Given the description of an element on the screen output the (x, y) to click on. 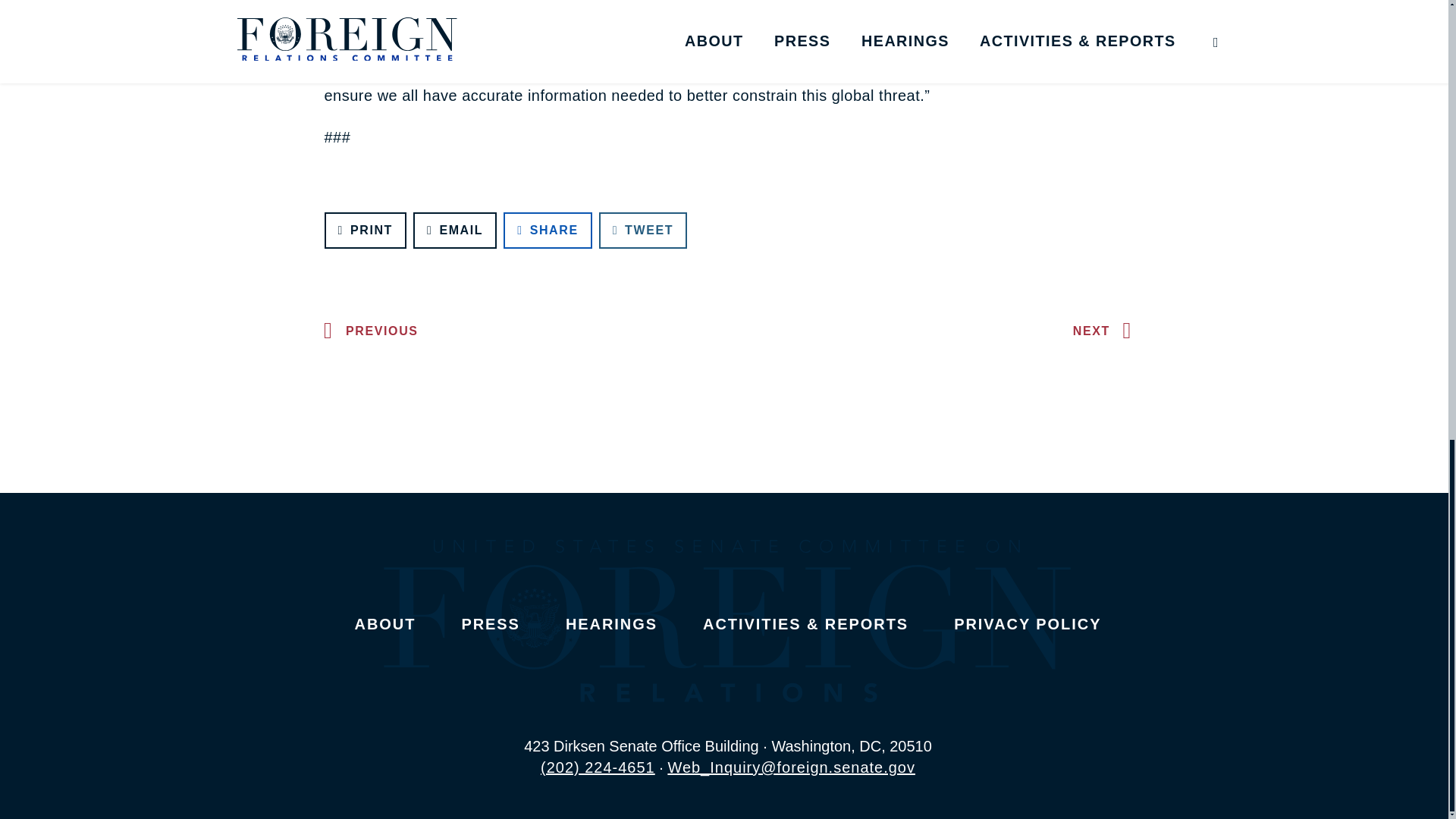
PRINT (365, 230)
About (385, 623)
Hearings (612, 623)
SHARE (547, 230)
Press (490, 623)
EMAIL (454, 230)
TWEET (642, 230)
Privacy Policy (1026, 623)
PRESS (490, 623)
ABOUT (385, 623)
PREVIOUS (367, 330)
NEXT (1105, 330)
